Given the description of an element on the screen output the (x, y) to click on. 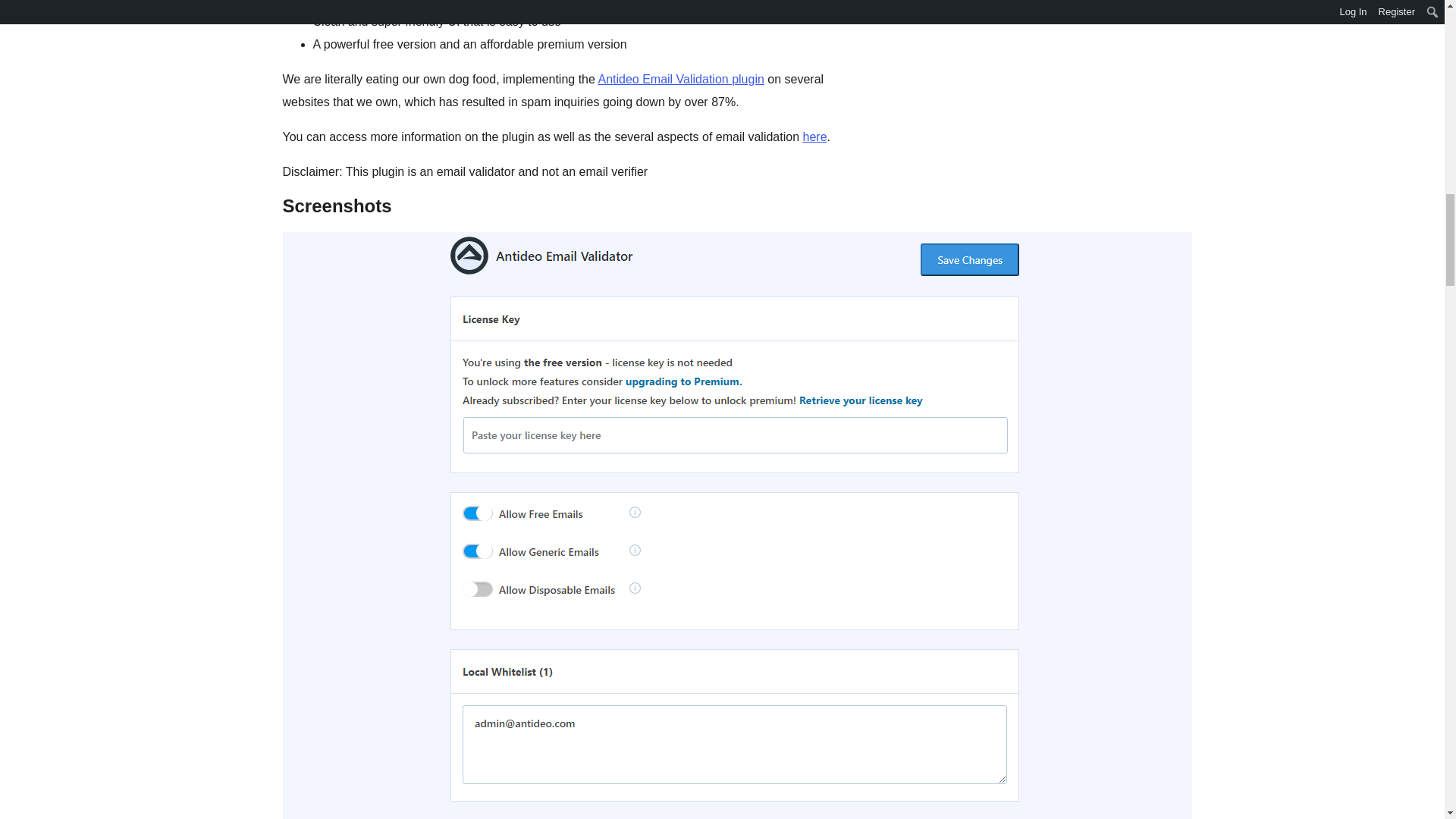
here (815, 136)
Antideo Email Validation plugin (679, 78)
